Given the description of an element on the screen output the (x, y) to click on. 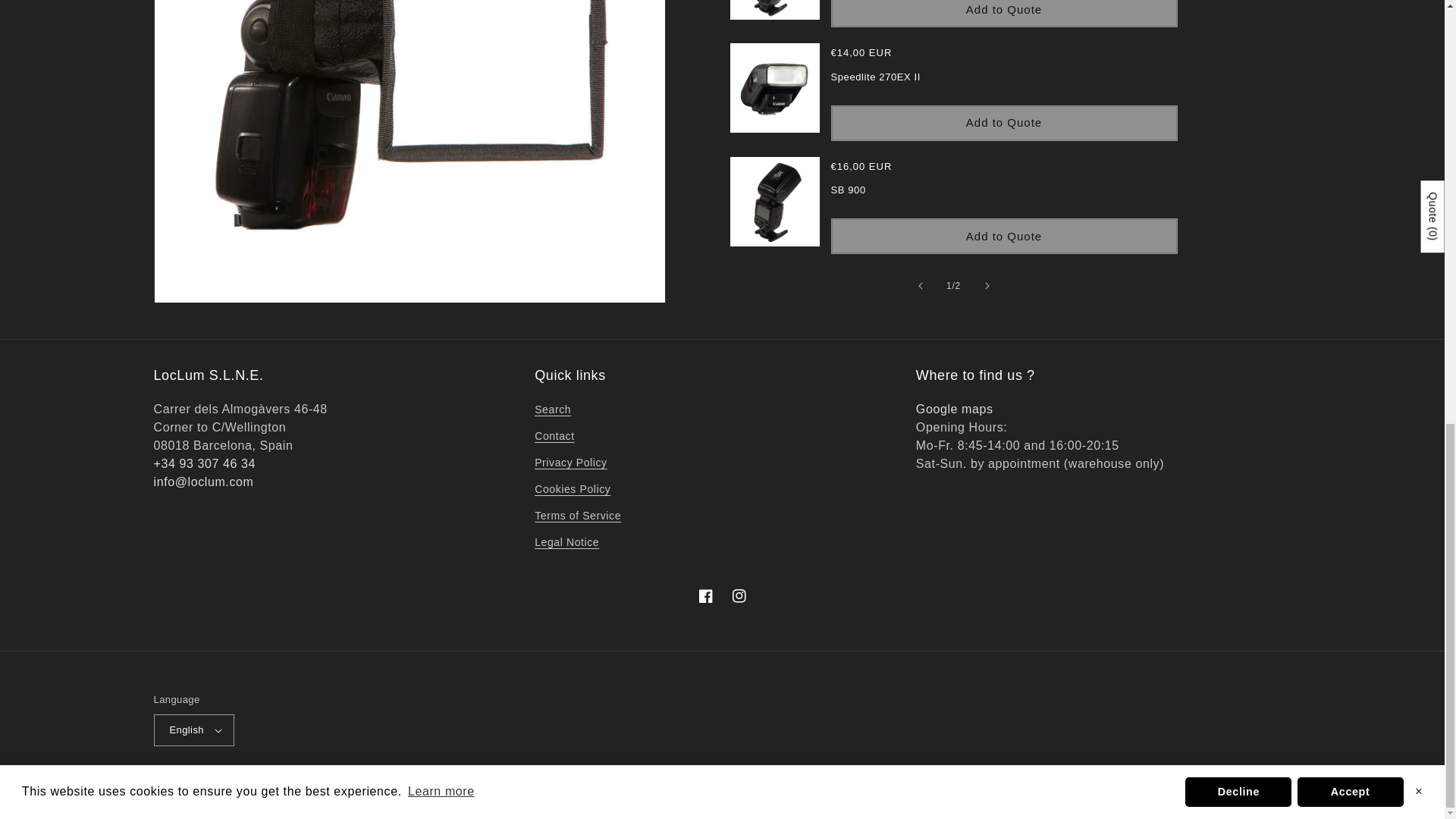
Google map (953, 408)
